Given the description of an element on the screen output the (x, y) to click on. 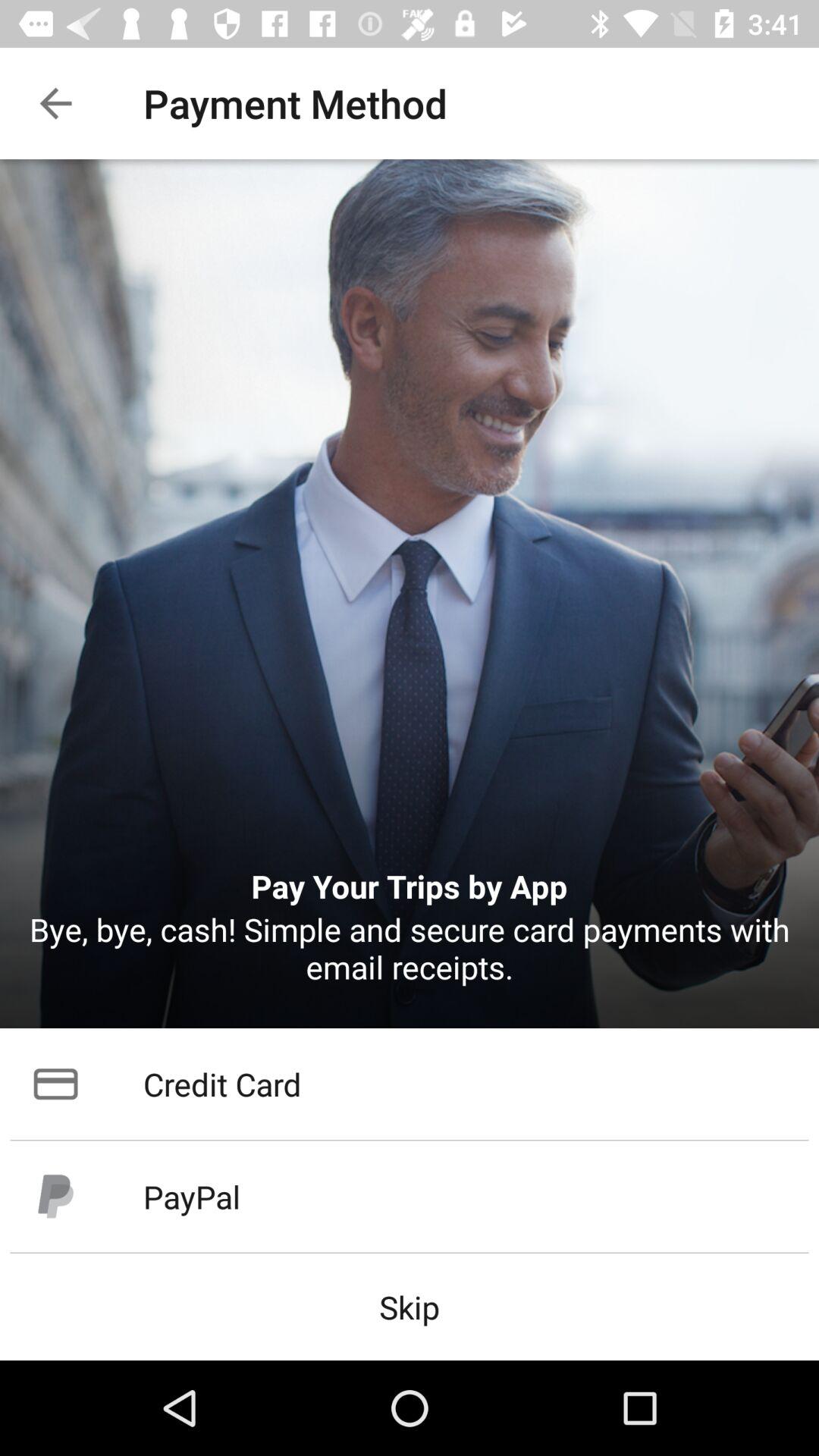
tap the item below credit card icon (409, 1196)
